Given the description of an element on the screen output the (x, y) to click on. 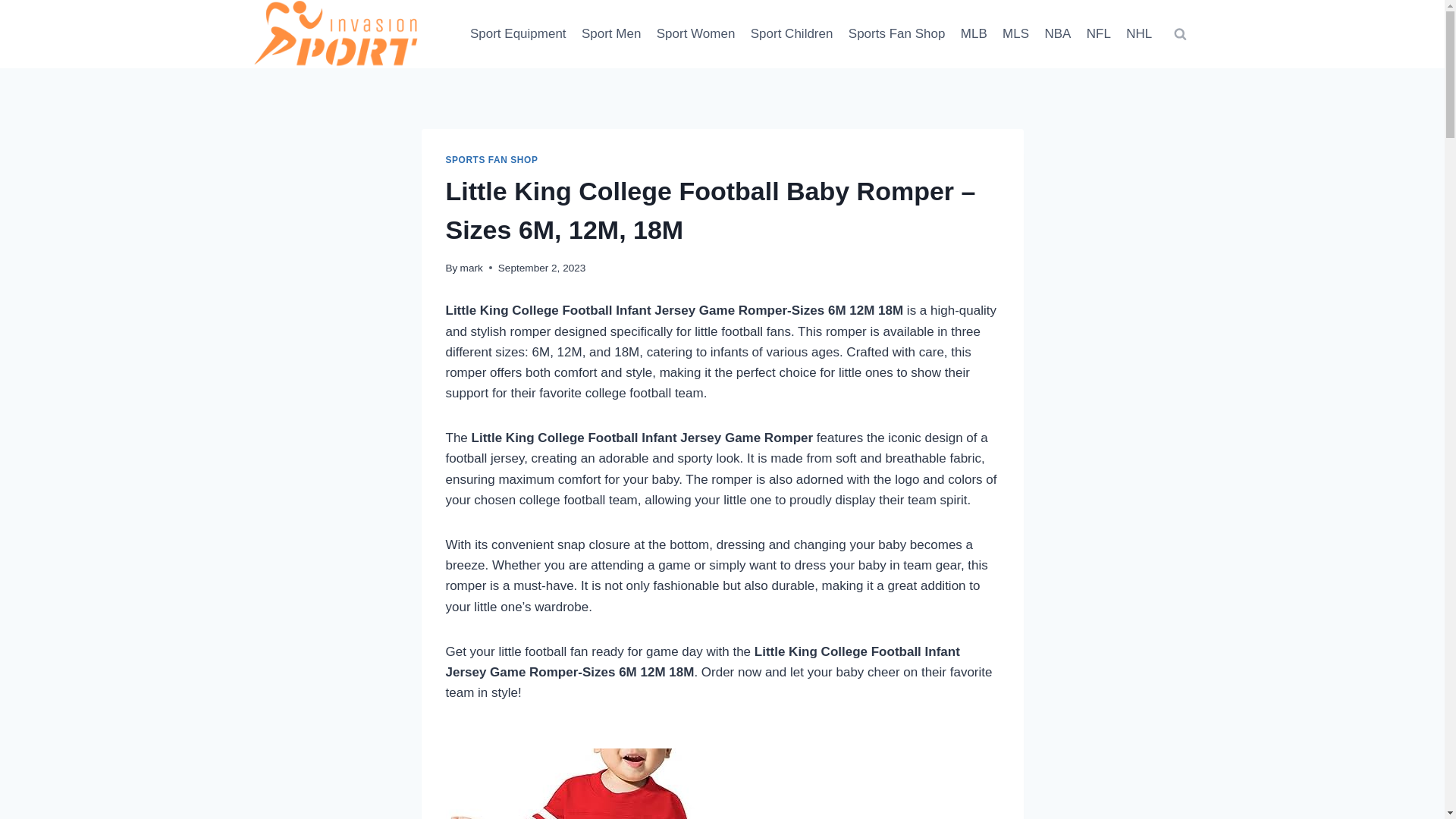
NHL (1138, 33)
MLB (973, 33)
MLS (1015, 33)
SPORTS FAN SHOP (491, 159)
mark (471, 267)
NBA (1057, 33)
Sport Children (791, 33)
Sports Fan Shop (897, 33)
Sport Women (695, 33)
NFL (1098, 33)
